Given the description of an element on the screen output the (x, y) to click on. 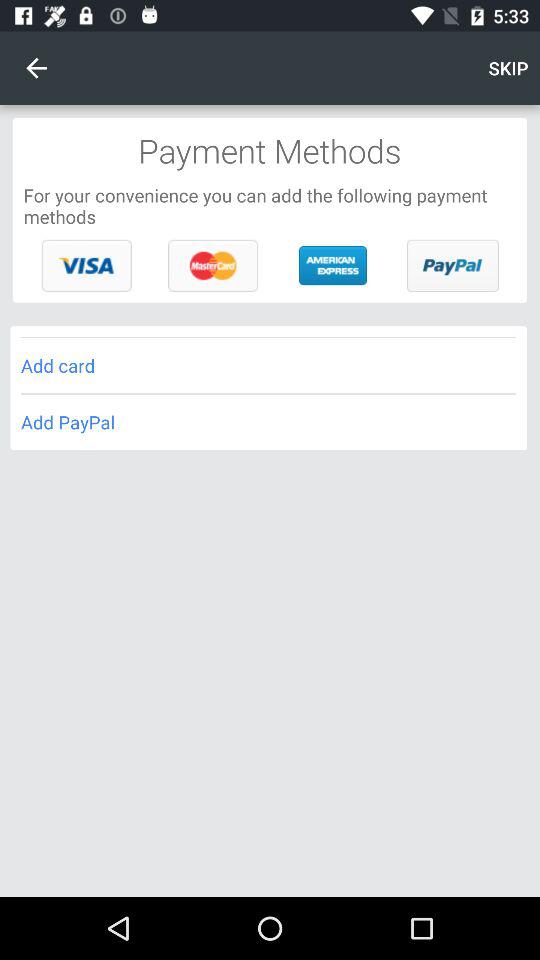
tap icon to the left of the skip item (36, 68)
